Given the description of an element on the screen output the (x, y) to click on. 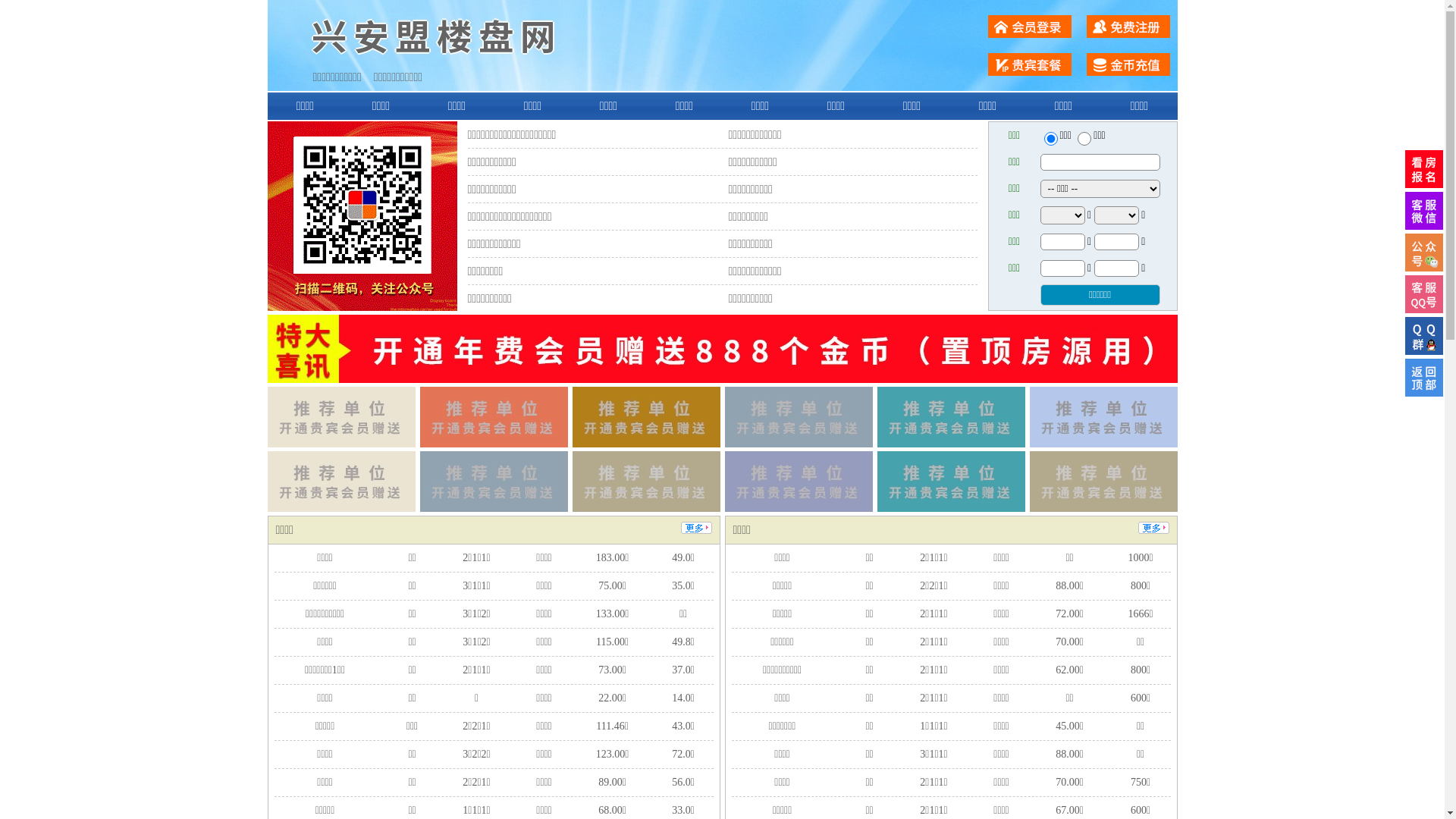
chuzu Element type: text (1084, 138)
ershou Element type: text (1050, 138)
